Given the description of an element on the screen output the (x, y) to click on. 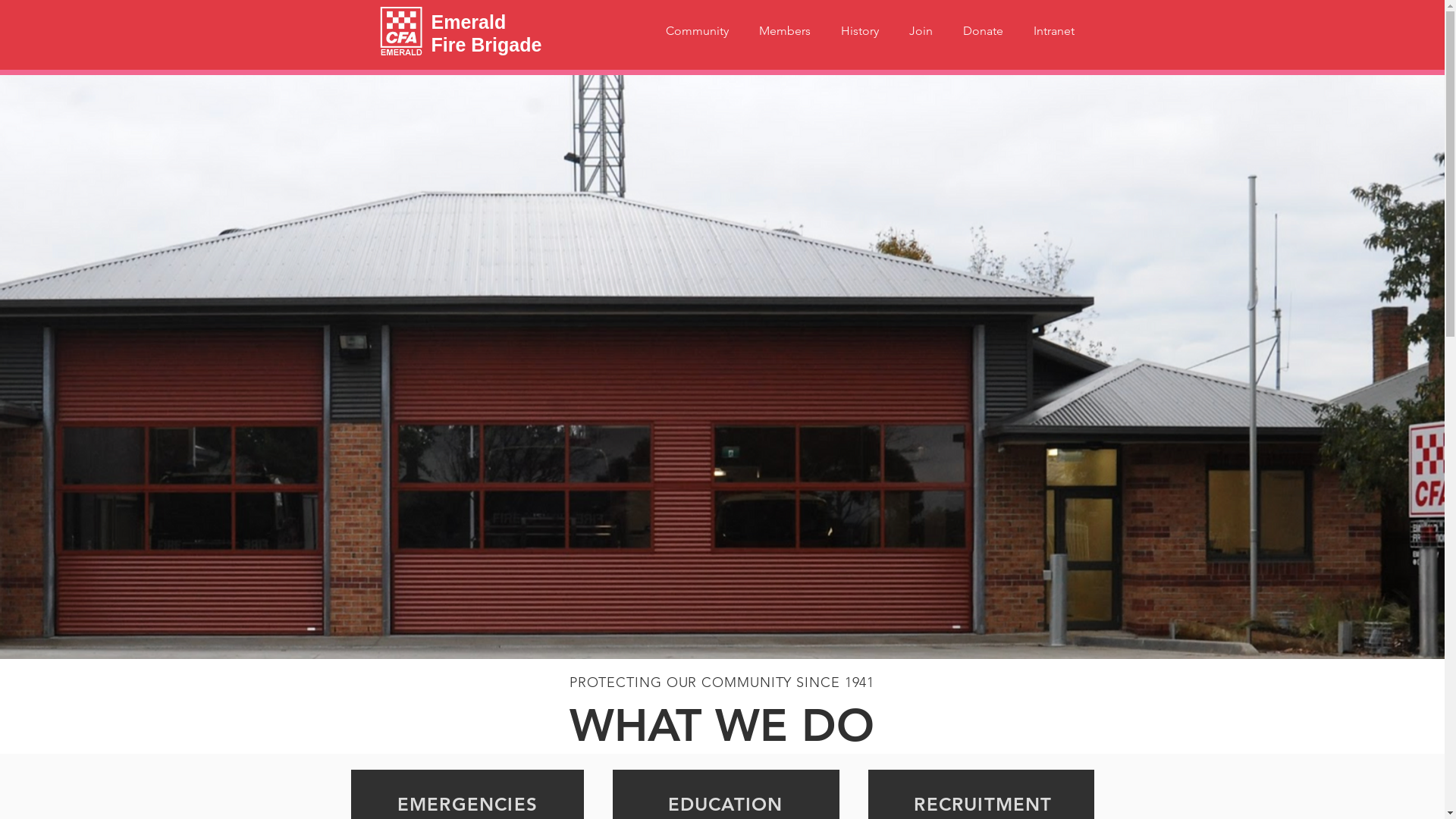
History Element type: text (859, 31)
Embedded Content Element type: hover (1006, 586)
Donate Element type: text (982, 31)
Intranet Element type: text (1052, 31)
Join Element type: text (920, 31)
